Given the description of an element on the screen output the (x, y) to click on. 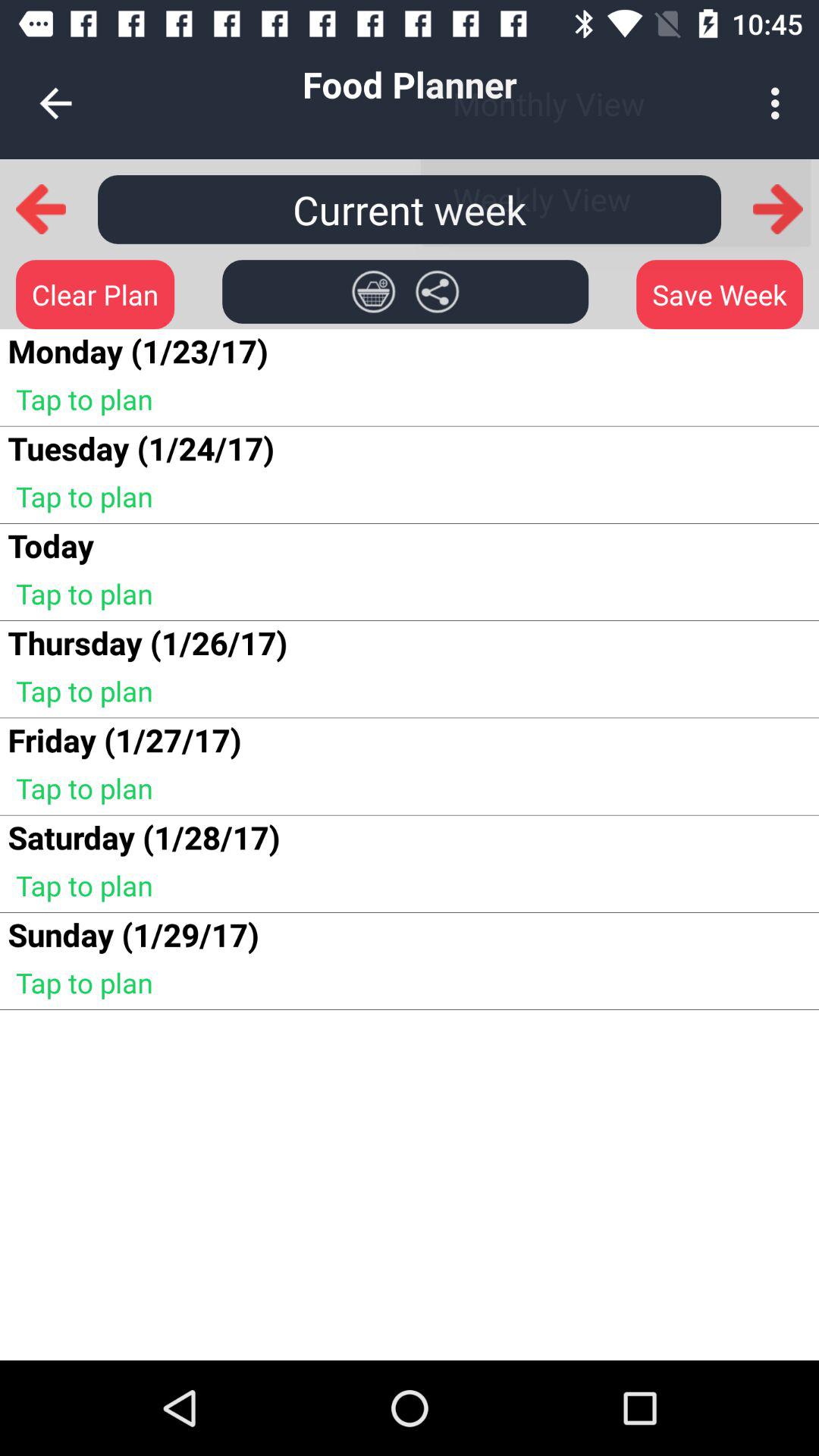
choose icon to the right of monday 1 23 (373, 291)
